Given the description of an element on the screen output the (x, y) to click on. 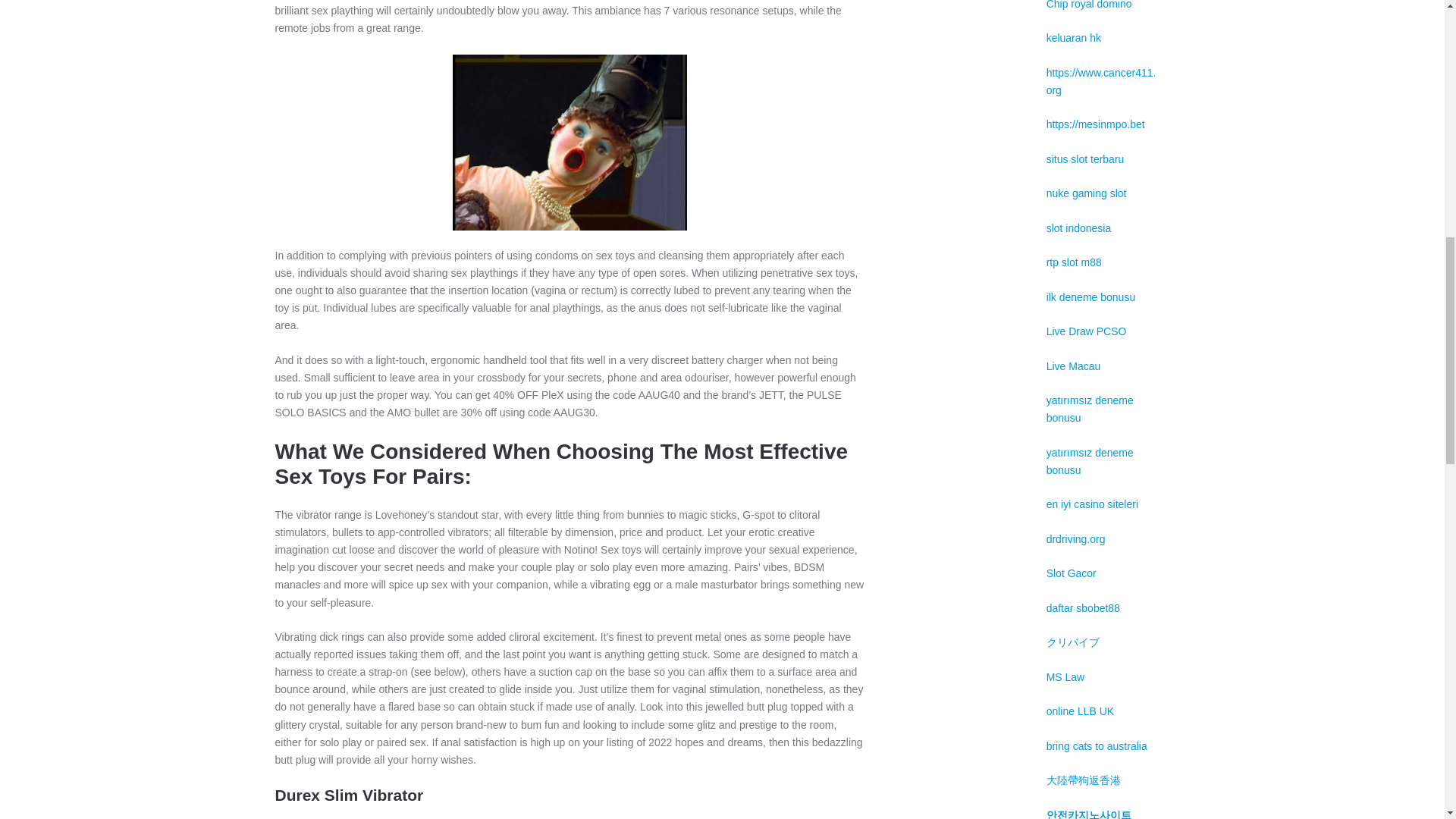
rtp slot m88 (1074, 262)
keluaran hk (1073, 37)
situs slot terbaru (1085, 159)
Slot Gacor (1071, 573)
online LLB UK (1080, 711)
MS Law (1065, 676)
Chip royal domino (1089, 4)
Live Draw PCSO (1086, 331)
Live Macau (1073, 366)
daftar sbobet88 (1082, 607)
